Given the description of an element on the screen output the (x, y) to click on. 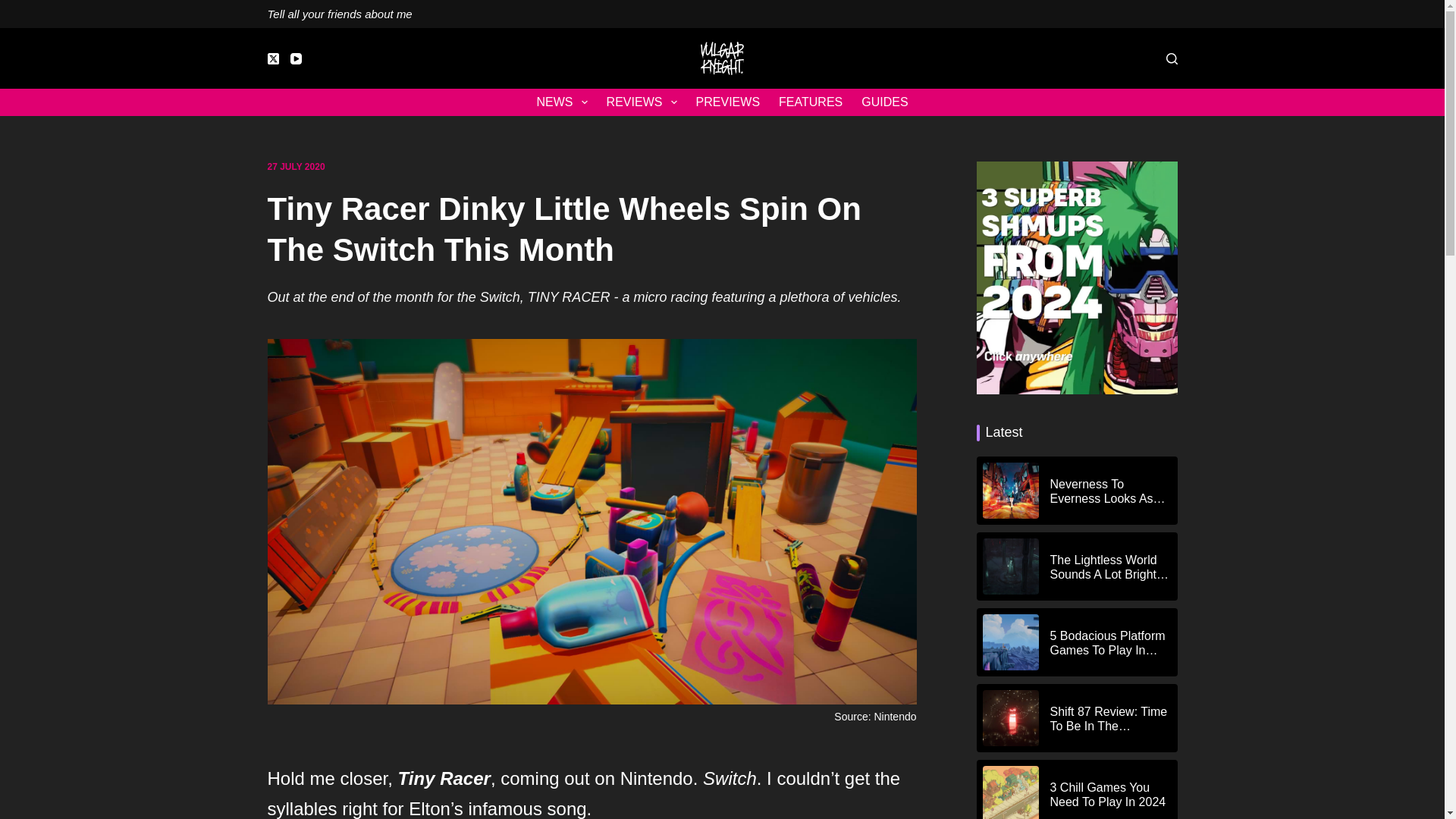
REVIEWS (640, 102)
FEATURES (810, 102)
NEWS (561, 102)
Tiny Racer Dinky Little Wheels Spin On The Switch This Month (590, 230)
PREVIEWS (726, 102)
GUIDES (884, 102)
Skip to content (15, 7)
SHMUPS (1076, 277)
